Given the description of an element on the screen output the (x, y) to click on. 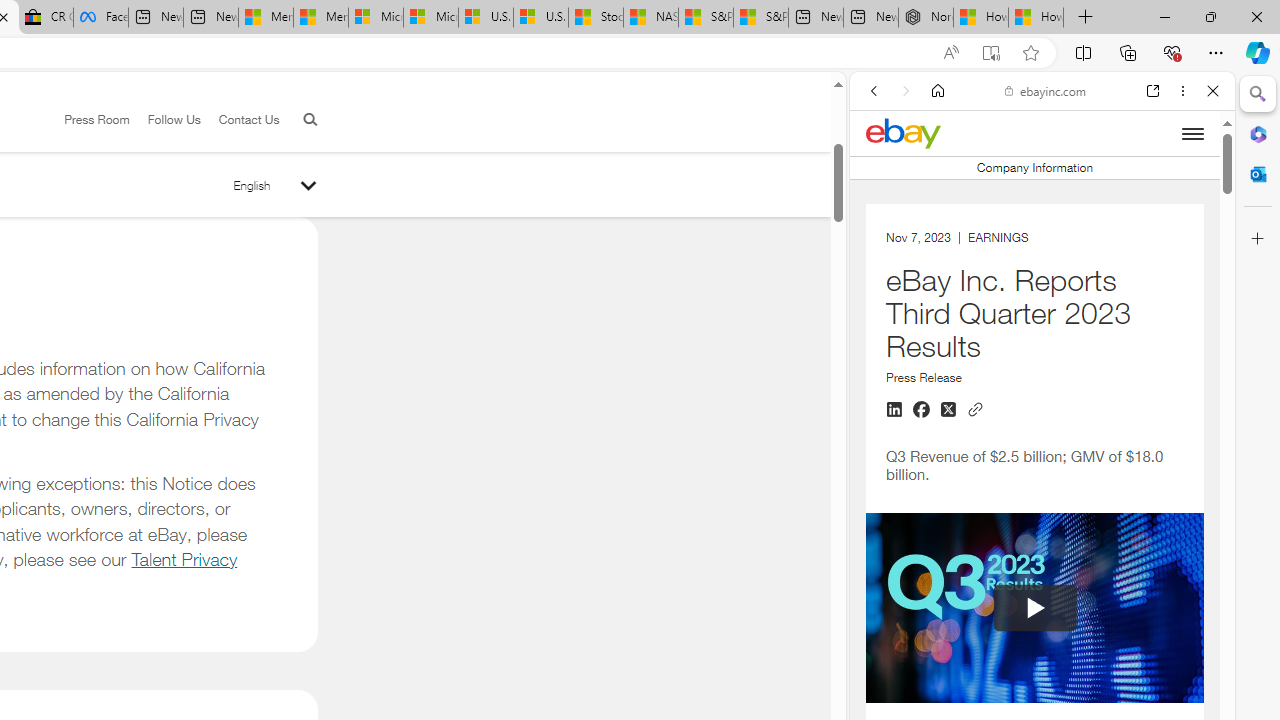
S&P 500, Nasdaq end lower, weighed by Nvidia dip | Watch (760, 17)
Search the web (1051, 137)
